Given the description of an element on the screen output the (x, y) to click on. 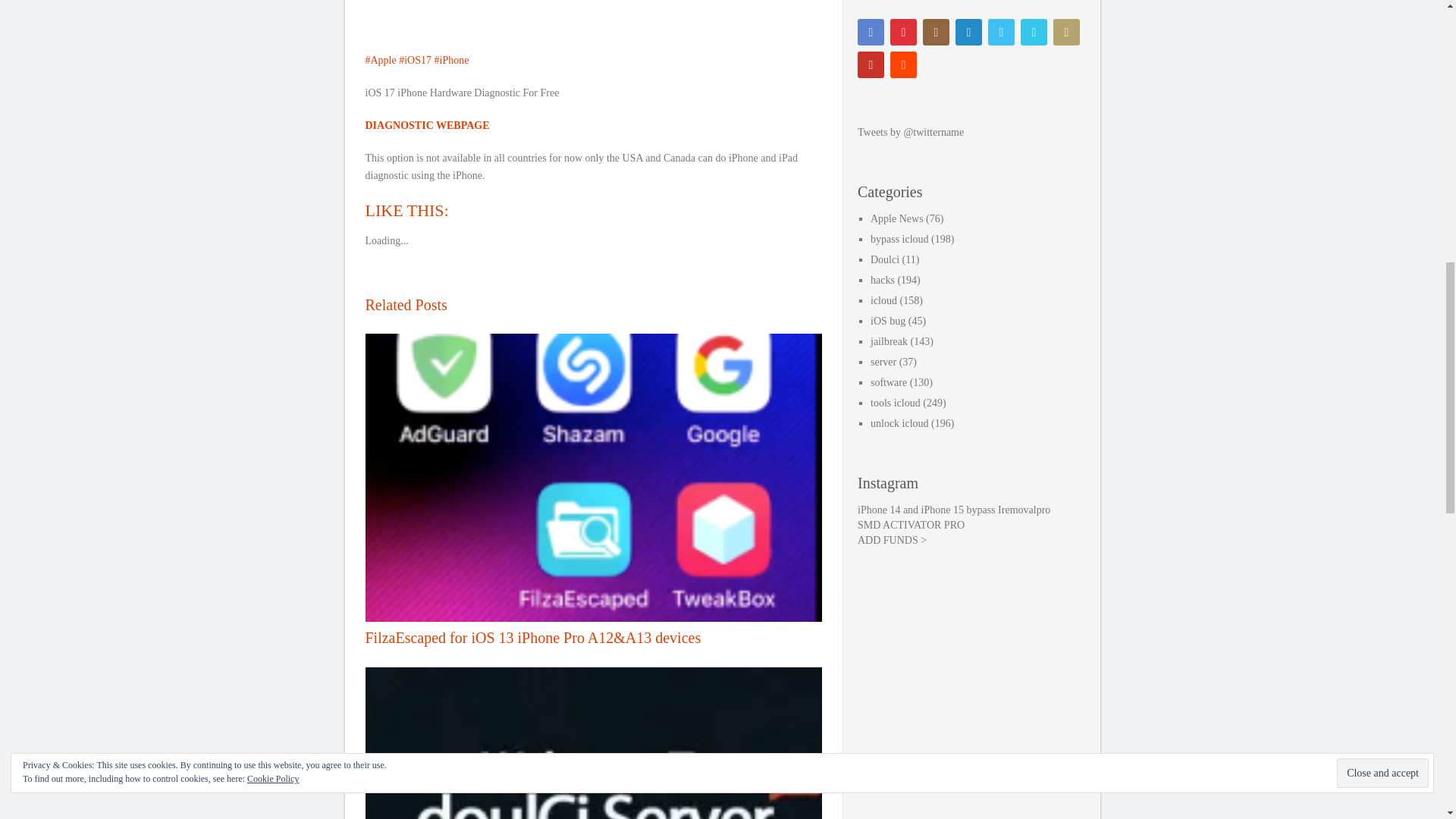
Pinterest (903, 31)
One more Doulci myth (593, 743)
Facebook (870, 31)
